Given the description of an element on the screen output the (x, y) to click on. 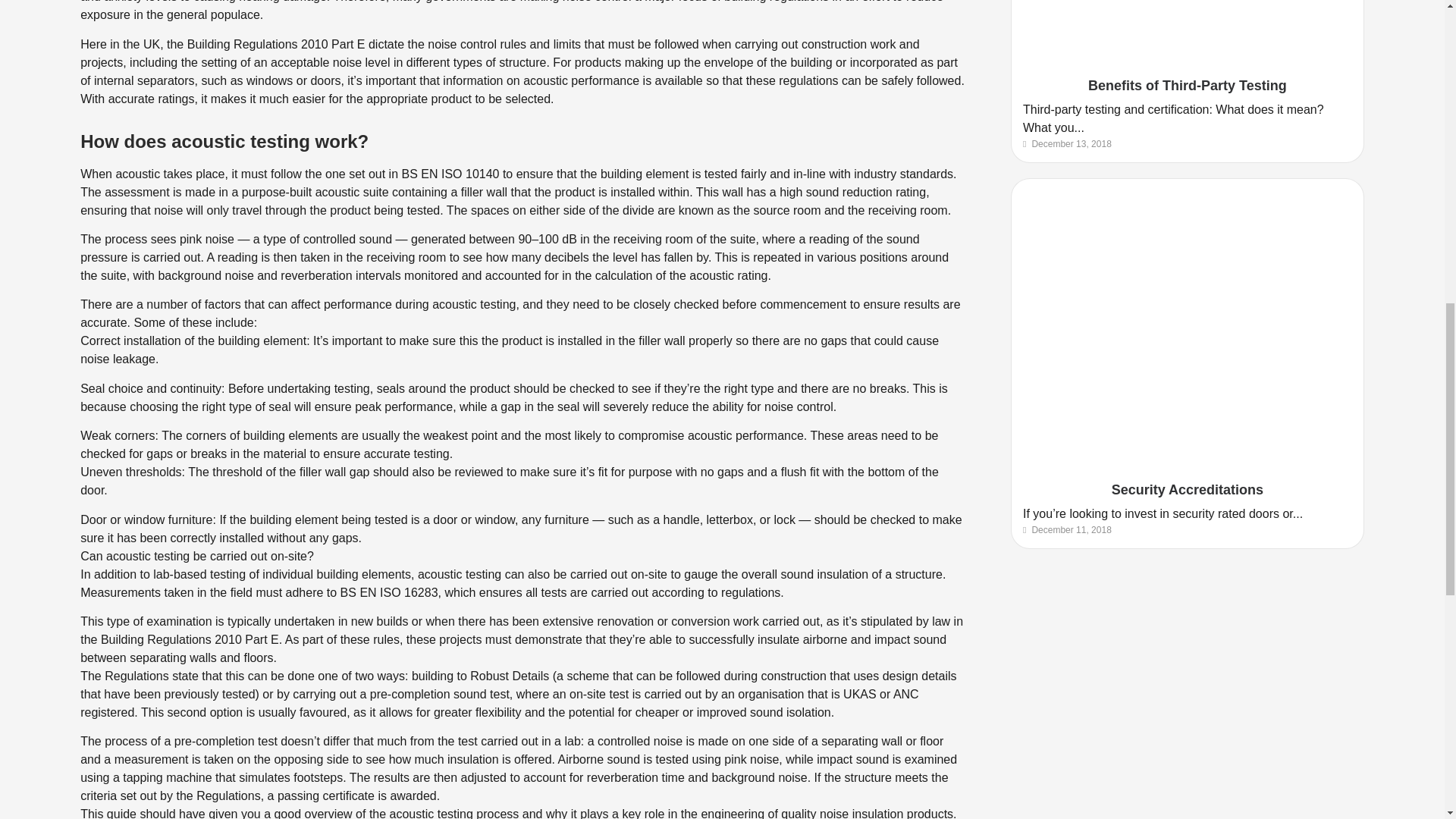
Benefits of Third-Party Testing (1187, 85)
Security Accreditations (1187, 489)
